Given the description of an element on the screen output the (x, y) to click on. 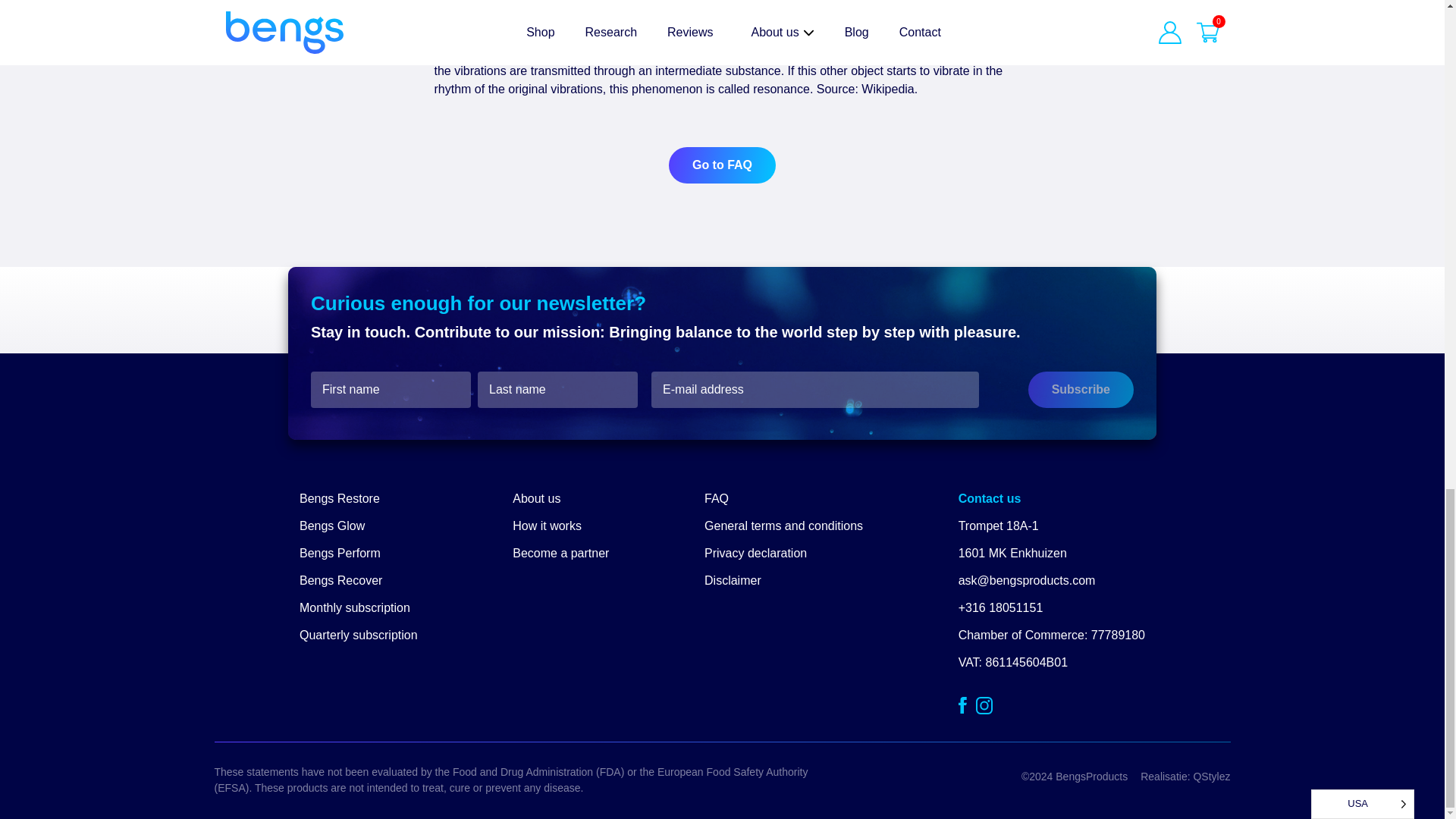
Bengs Perform (339, 553)
Bengs Restore (339, 498)
FAQ (716, 498)
Monthly subscription (354, 607)
Subscribe (1080, 389)
Privacy declaration (755, 553)
General terms and conditions (783, 525)
Disclaimer (732, 580)
Bengs Recover (340, 580)
Become a partner (560, 553)
